Given the description of an element on the screen output the (x, y) to click on. 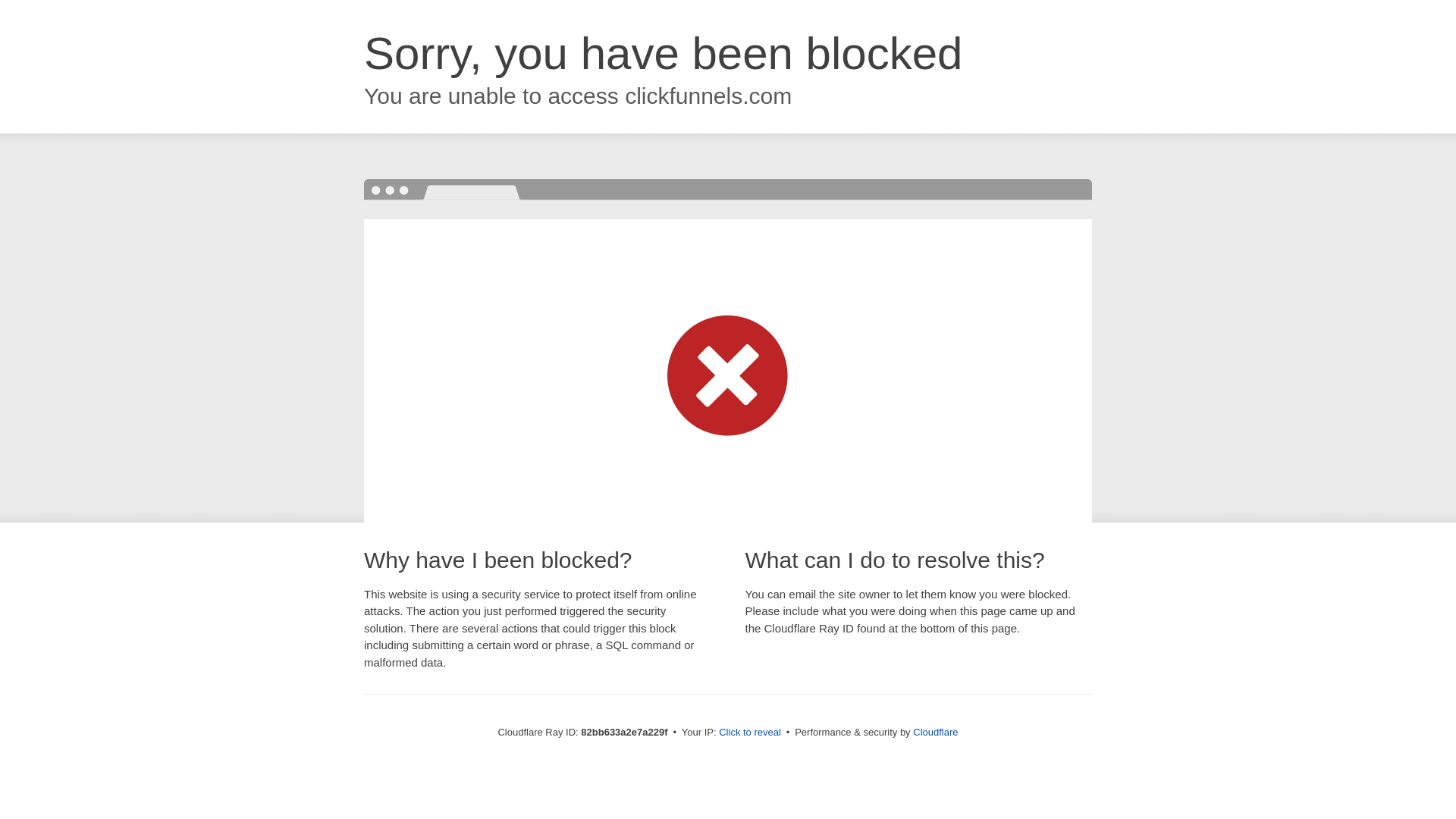
Click to reveal Element type: text (749, 732)
Cloudflare Element type: text (935, 731)
